Given the description of an element on the screen output the (x, y) to click on. 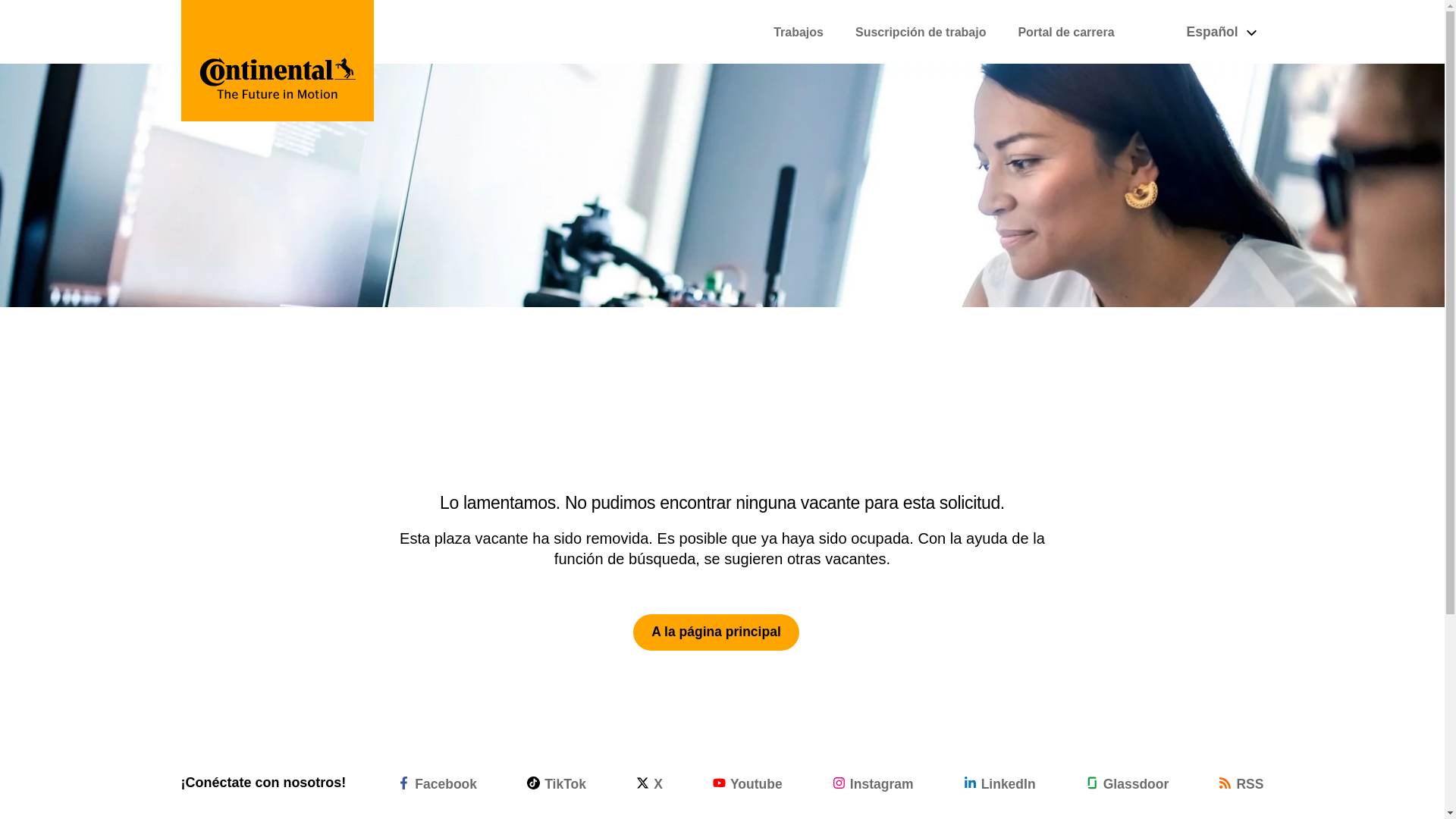
TikTok (556, 782)
Trabajos (798, 32)
Instagram (873, 782)
LinkedIn (999, 782)
Trabajos (798, 32)
Continental AG (277, 60)
Youtube (748, 782)
X (649, 782)
Glassdoor (1127, 782)
TikTok (556, 782)
RSS (1240, 782)
Portal de carrera (1065, 32)
Facebook (437, 782)
Facebook (437, 782)
Portal de carrera (1065, 32)
